Given the description of an element on the screen output the (x, y) to click on. 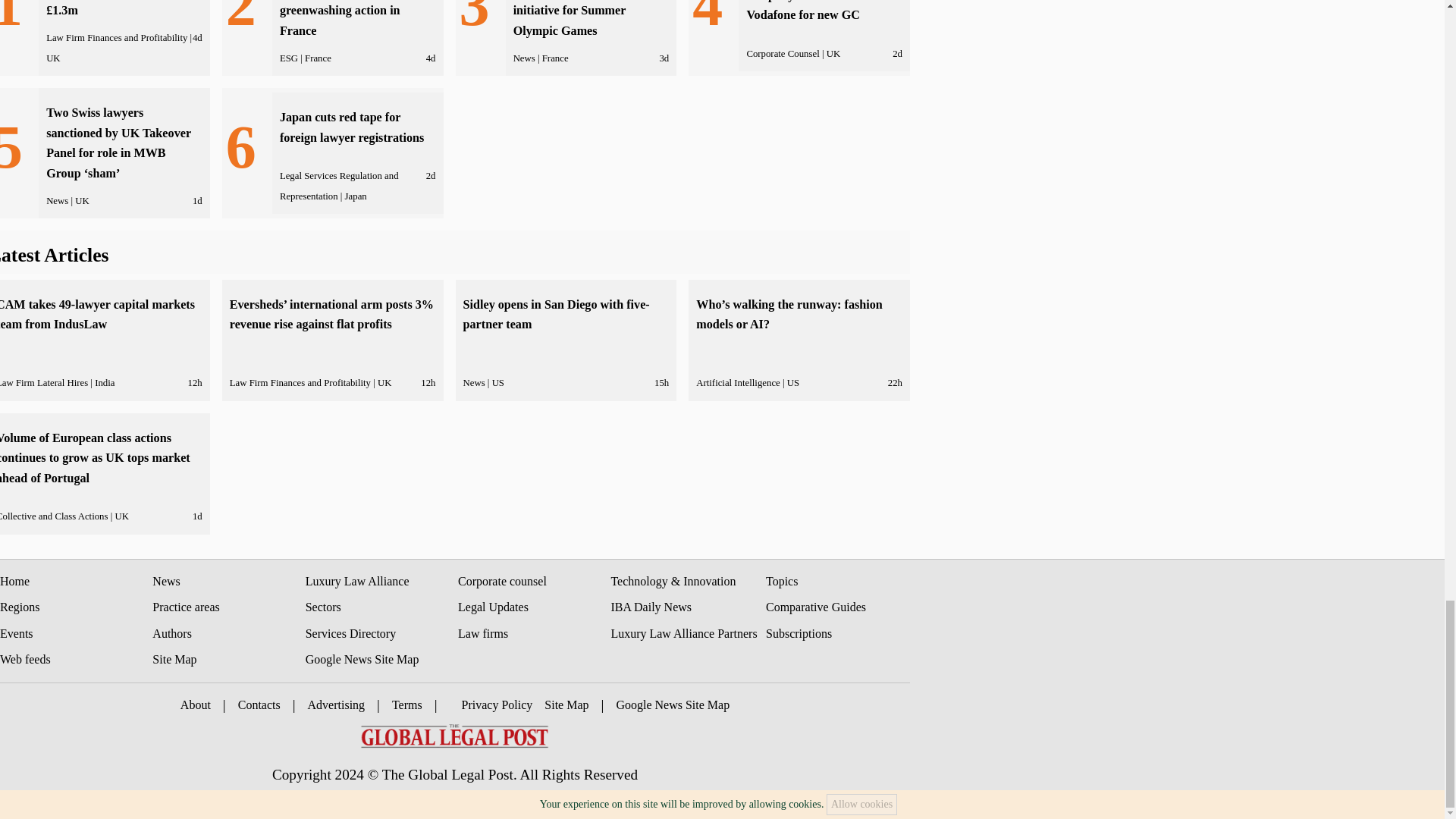
France (317, 58)
UK (52, 58)
ESG (288, 58)
Law Firm Finances and Profitability (116, 37)
